Given the description of an element on the screen output the (x, y) to click on. 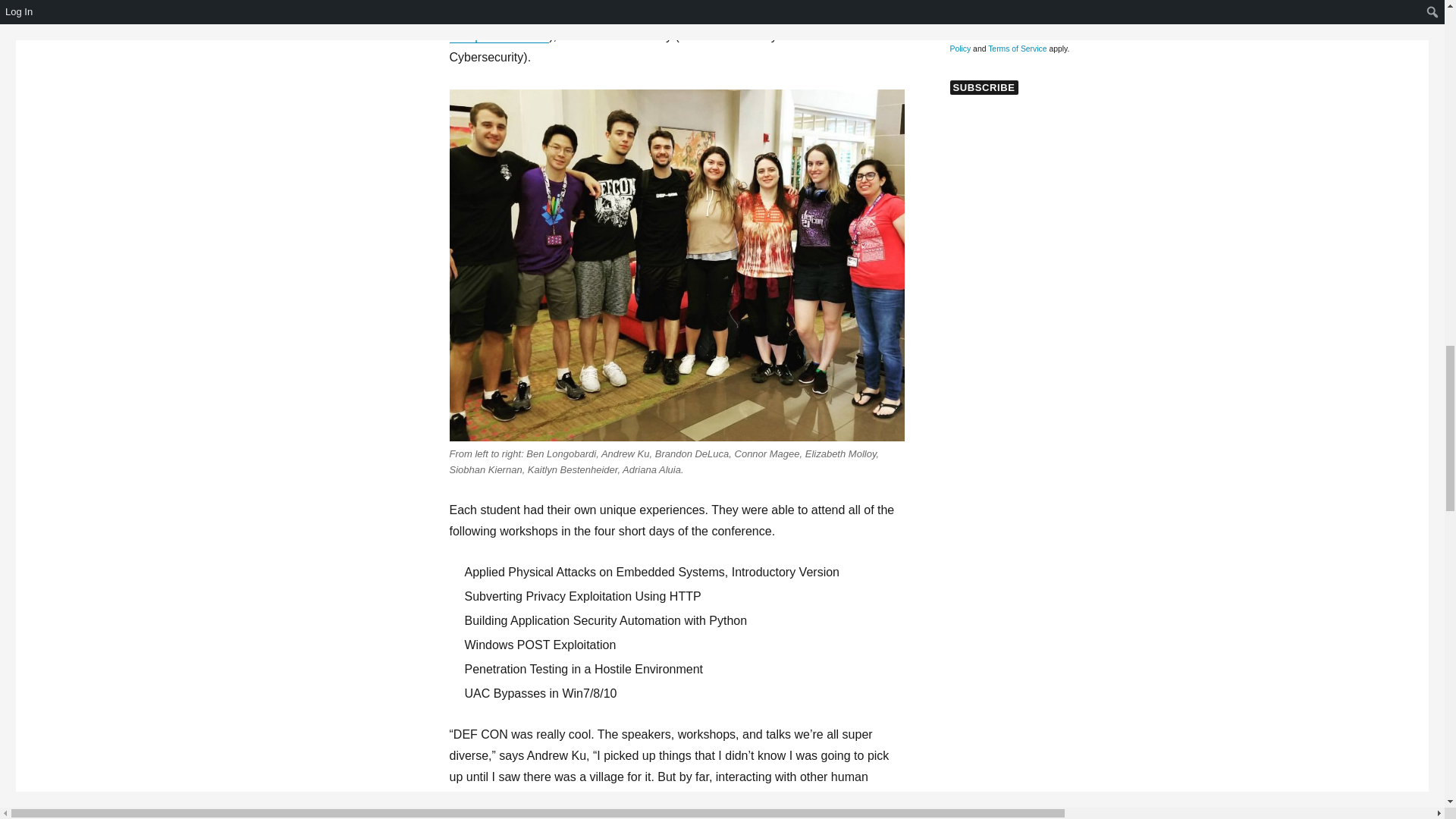
BS Computer Science (656, 25)
Subscribe (983, 87)
BS Information Systems (663, 10)
